Given the description of an element on the screen output the (x, y) to click on. 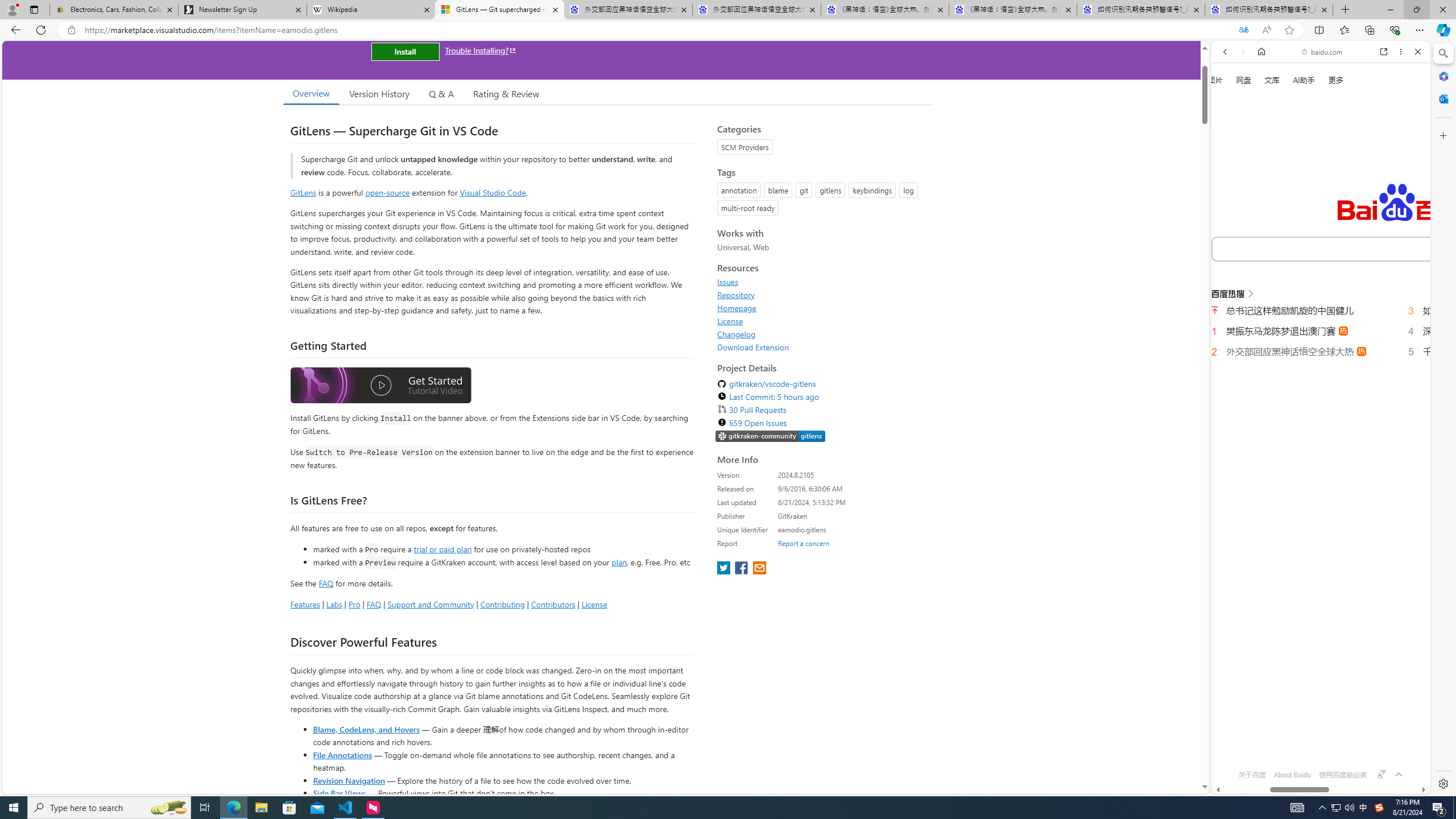
plan (618, 562)
Search Filter, Search Tools (1350, 192)
https://slack.gitkraken.com// (769, 436)
SEARCH TOOLS (1350, 192)
open-source (387, 192)
Visual Studio Code (492, 192)
Issues (820, 281)
Side bar (1443, 418)
